Given the description of an element on the screen output the (x, y) to click on. 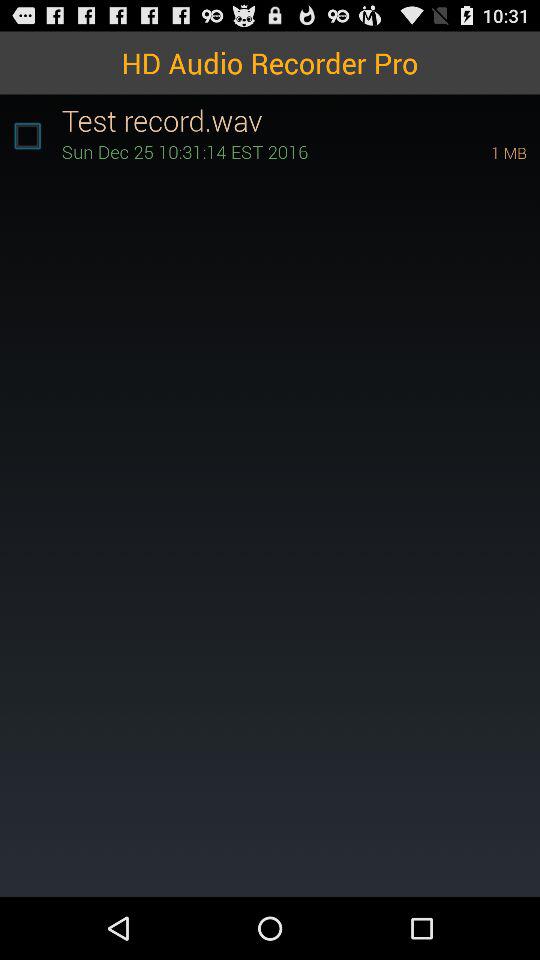
press the item above the sun dec 25 (300, 120)
